Given the description of an element on the screen output the (x, y) to click on. 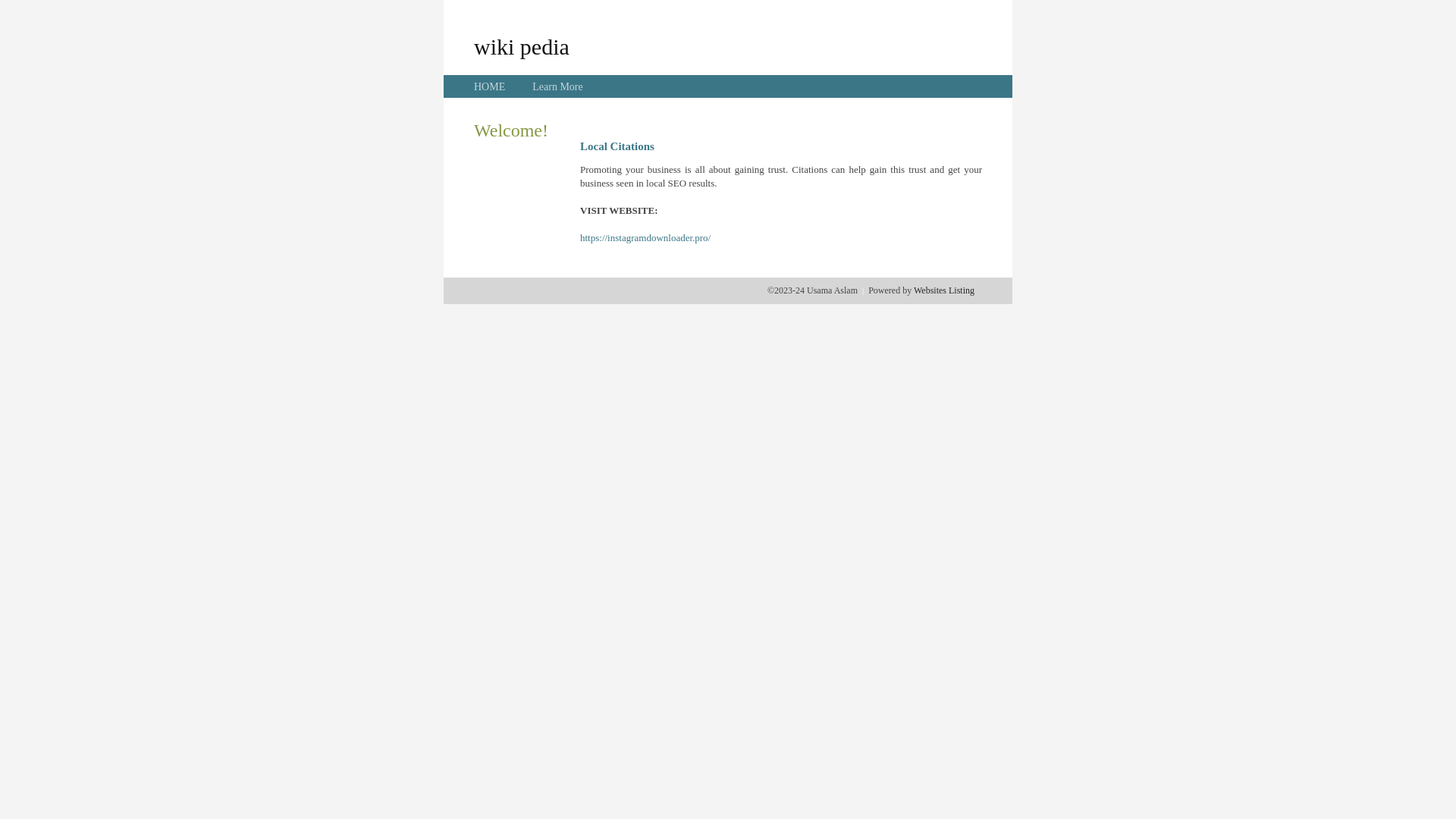
Websites Listing Element type: text (943, 290)
Learn More Element type: text (557, 86)
https://instagramdownloader.pro/ Element type: text (645, 237)
HOME Element type: text (489, 86)
wiki pedia Element type: text (521, 46)
